Given the description of an element on the screen output the (x, y) to click on. 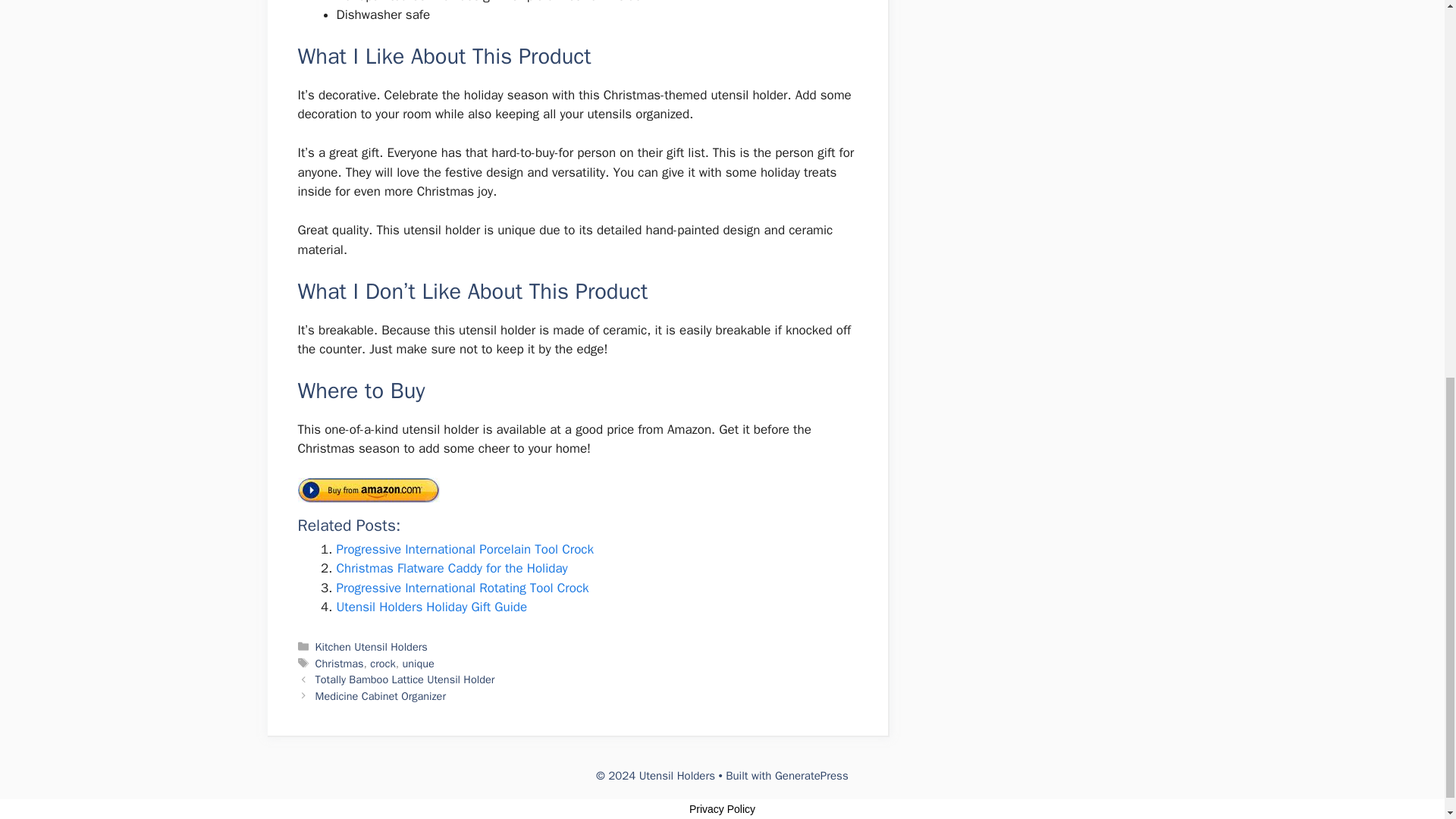
Privacy Policy (721, 808)
Christmas Flatware Caddy for the Holiday (451, 568)
Progressive International Porcelain Tool Crock (465, 549)
Progressive International Porcelain Tool Crock (465, 549)
Totally Bamboo Lattice Utensil Holder (405, 679)
Progressive International Rotating Tool Crock (462, 587)
crock (381, 663)
GeneratePress (811, 775)
Utensil Holders Holiday Gift Guide (431, 606)
Kitchen Utensil Holders (371, 646)
